Given the description of an element on the screen output the (x, y) to click on. 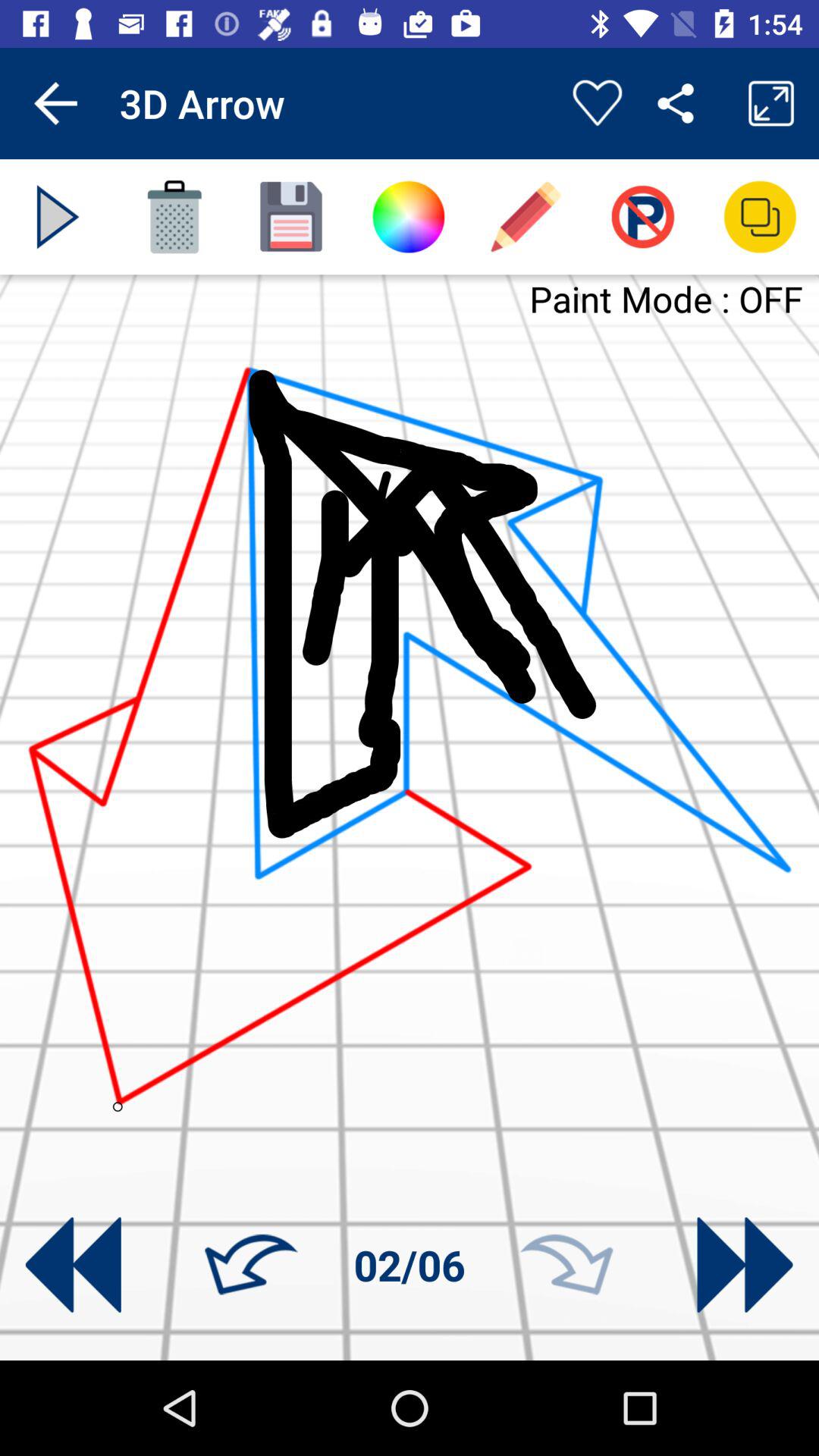
create new layer (291, 216)
